Given the description of an element on the screen output the (x, y) to click on. 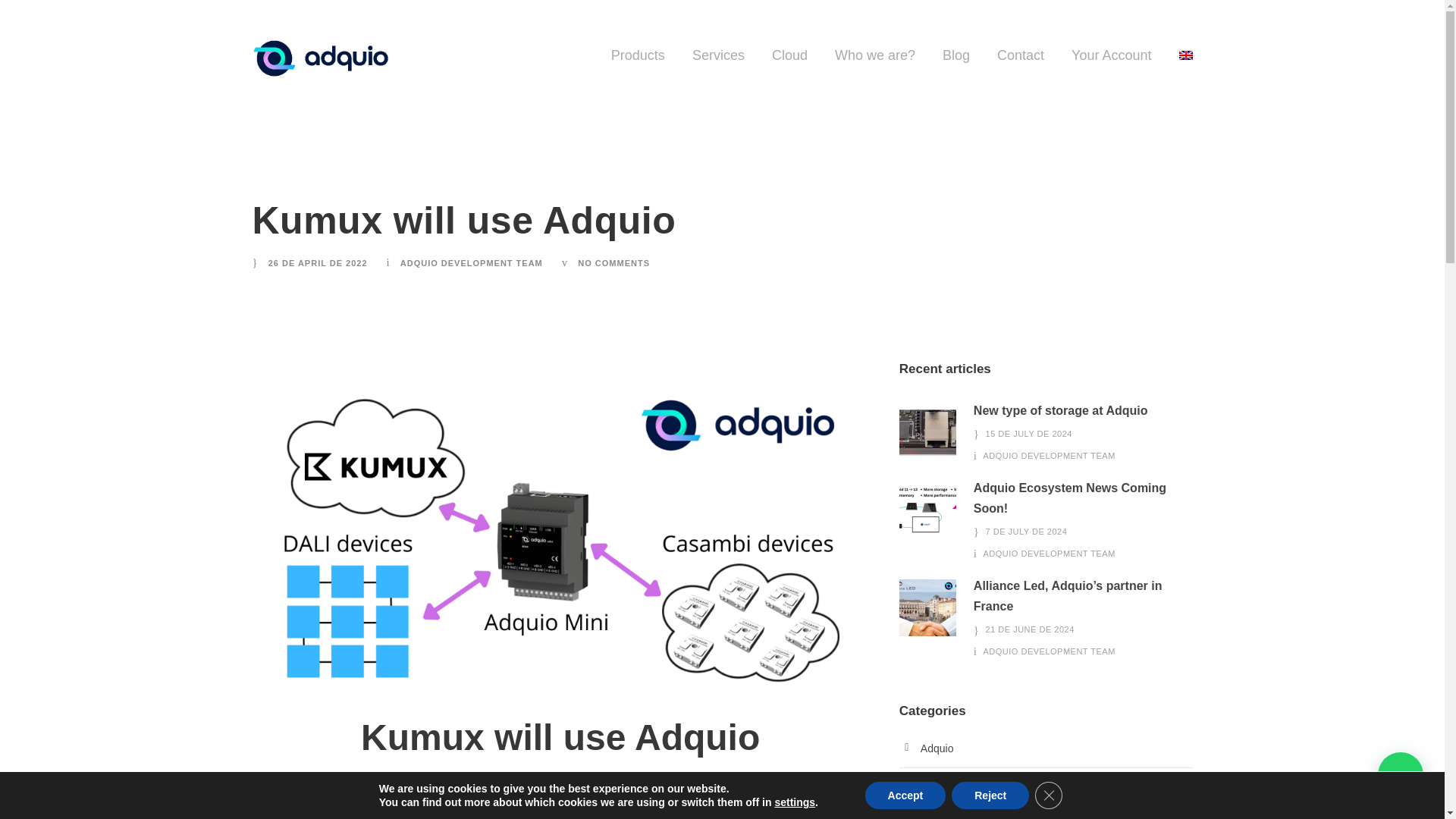
2 (927, 509)
Posts by Adquio Development Team (1049, 552)
Posts by Adquio Development Team (471, 262)
Untitled-2024-04-09-1349 (927, 432)
Posts by Adquio Development Team (1049, 455)
